Given the description of an element on the screen output the (x, y) to click on. 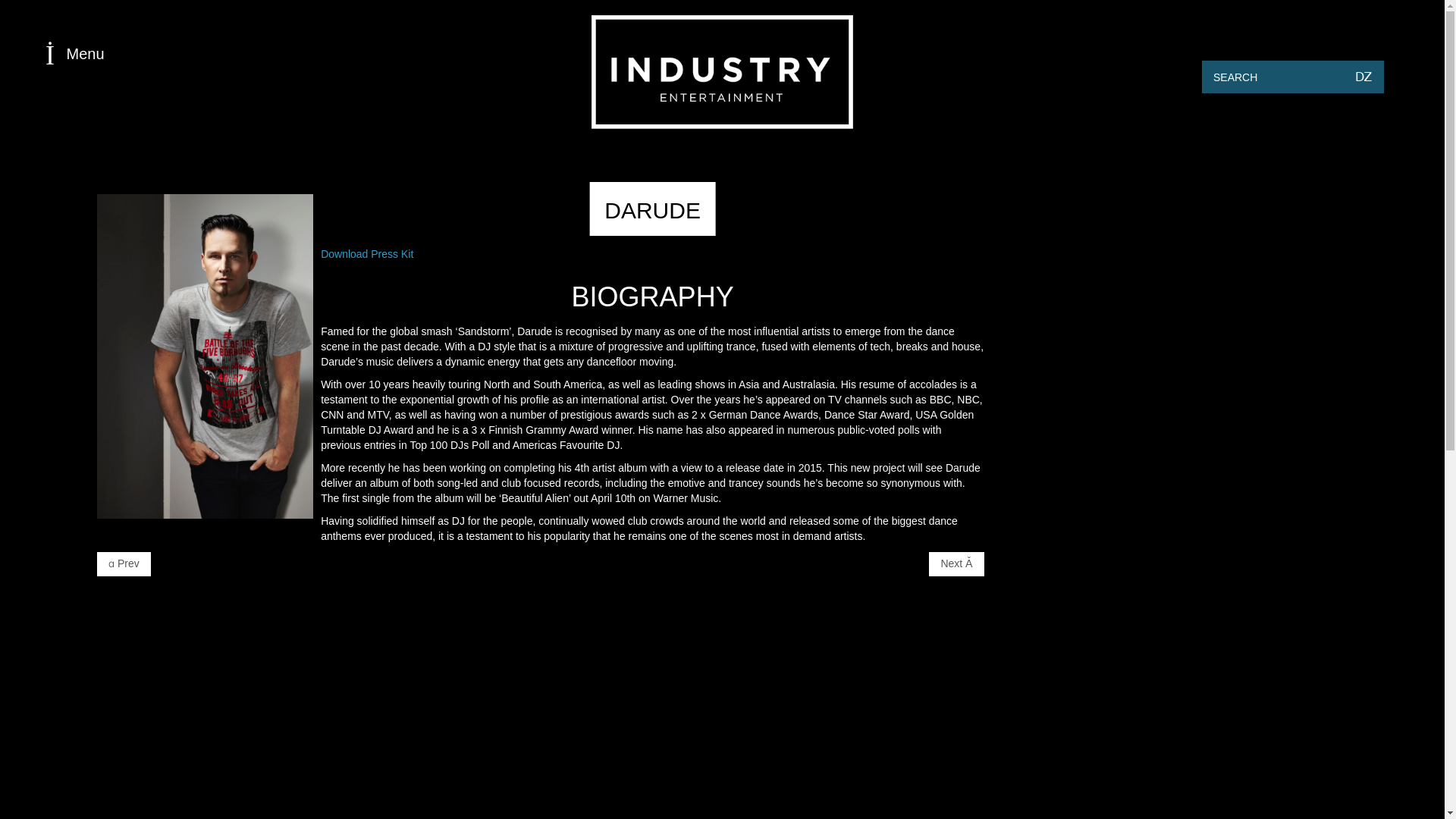
Next (956, 564)
Prev (124, 564)
DARUDE (652, 210)
Download Press Kit (366, 254)
Menu (237, 55)
